Given the description of an element on the screen output the (x, y) to click on. 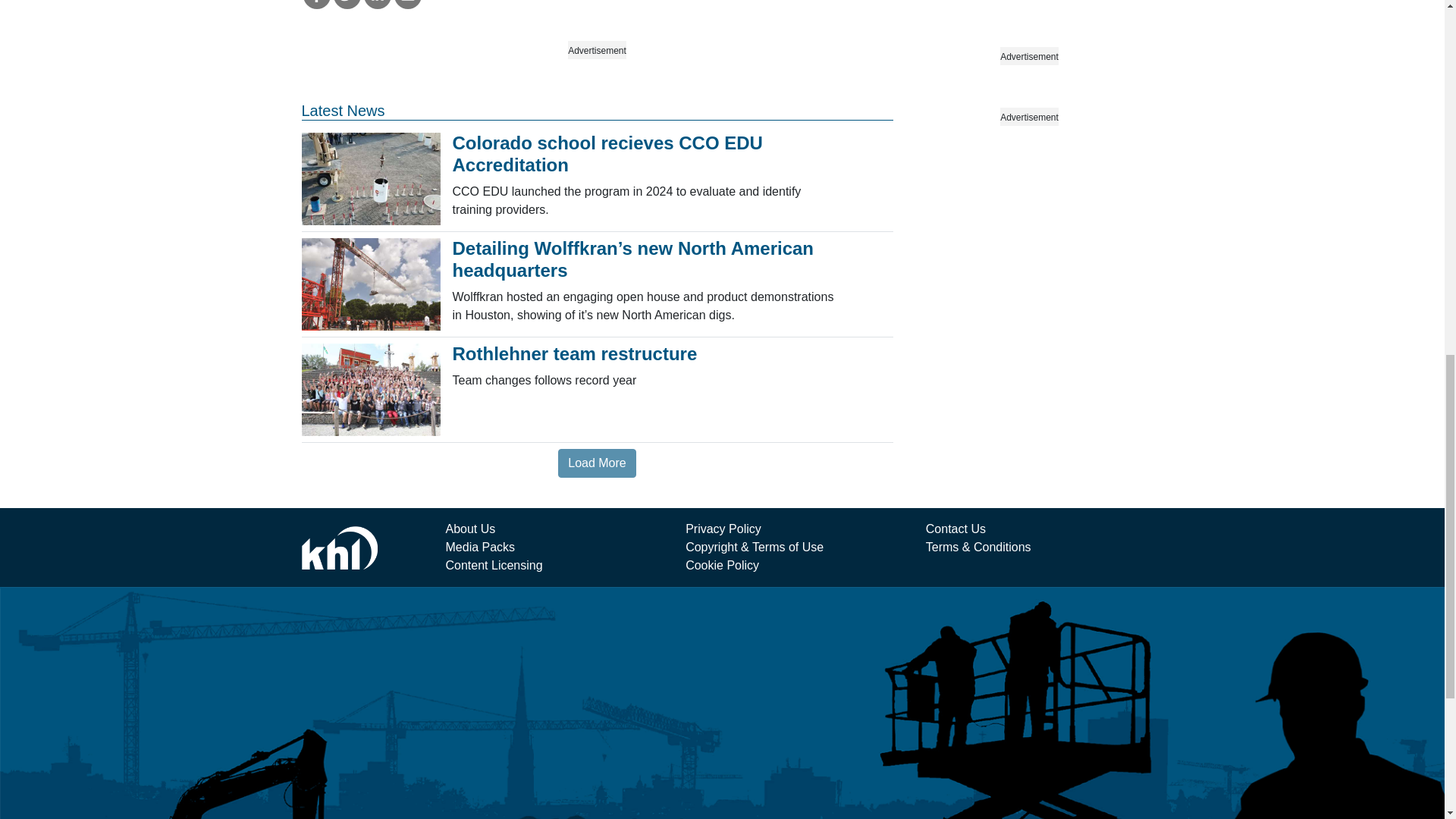
Share this page on Facebook (316, 4)
Share this page on Linkedin (377, 4)
Share this page via email (408, 4)
Share this page on Twitter (347, 4)
